Given the description of an element on the screen output the (x, y) to click on. 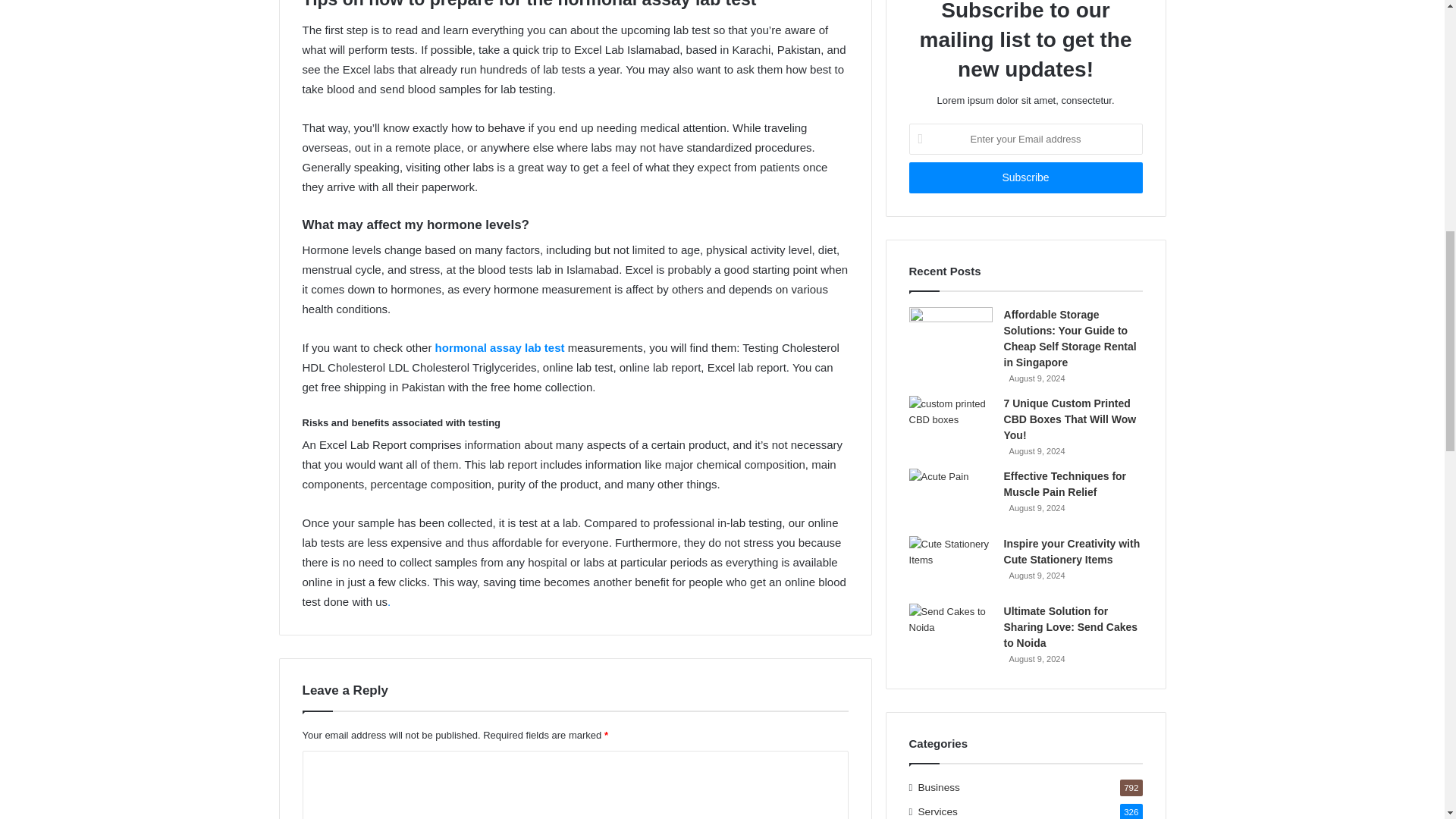
Business (938, 787)
Inspire your Creativity with Cute Stationery Items (1072, 551)
hormonal assay lab test (499, 347)
Services (938, 811)
7 Unique Custom Printed CBD Boxes That Will Wow You! (1070, 419)
Subscribe (1025, 177)
Subscribe (1025, 177)
Ultimate Solution for Sharing Love: Send Cakes to Noida (1071, 627)
Effective Techniques for Muscle Pain Relief (1065, 483)
